Given the description of an element on the screen output the (x, y) to click on. 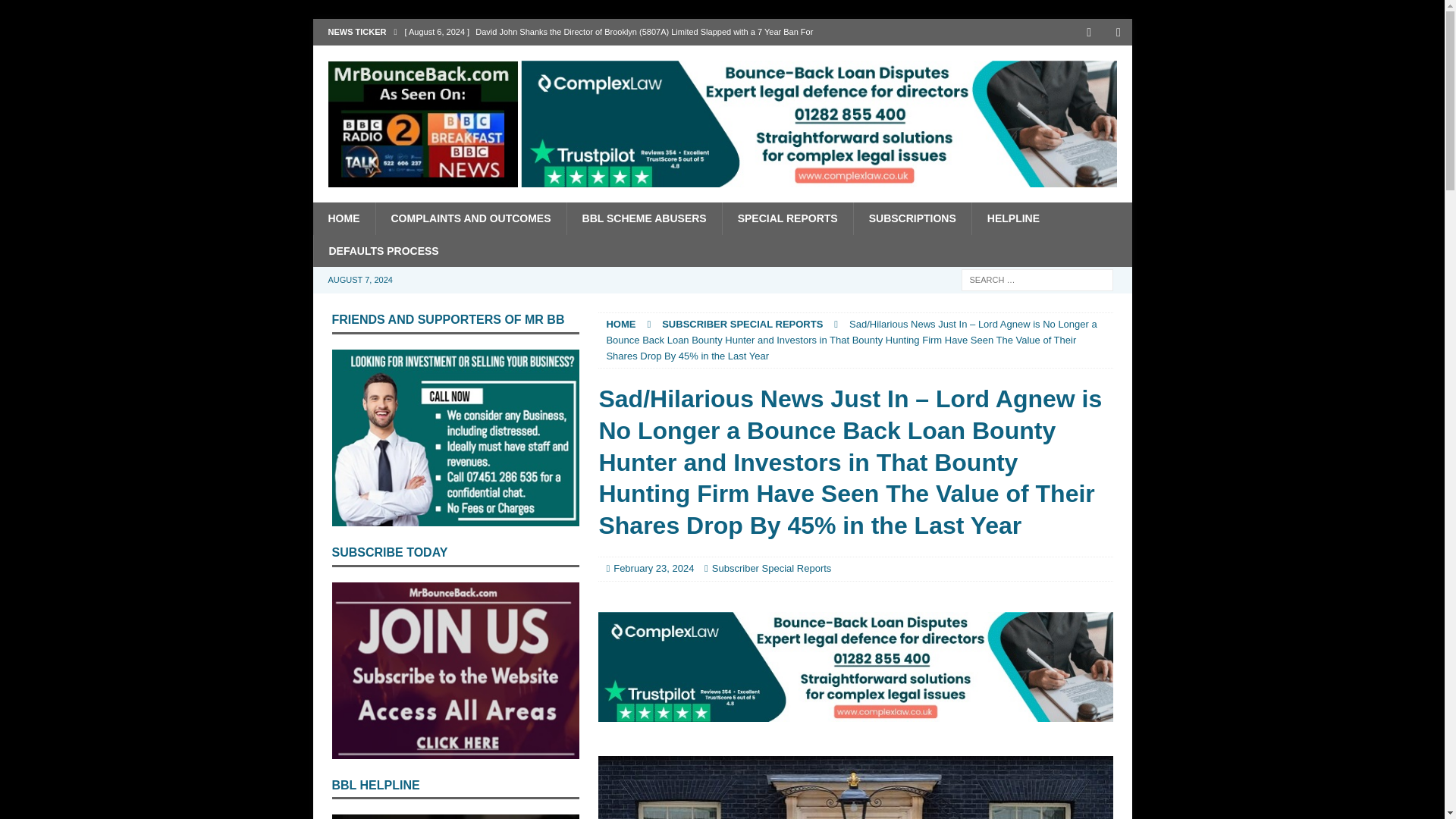
SUBSCRIPTIONS (912, 218)
DEFAULTS PROCESS (382, 250)
COMPLAINTS AND OUTCOMES (470, 218)
HOME (619, 324)
February 23, 2024 (653, 568)
SPECIAL REPORTS (787, 218)
SUBSCRIBER SPECIAL REPORTS (742, 324)
Subscriber Special Reports (771, 568)
BBL SCHEME ABUSERS (644, 218)
Search (56, 11)
